Given the description of an element on the screen output the (x, y) to click on. 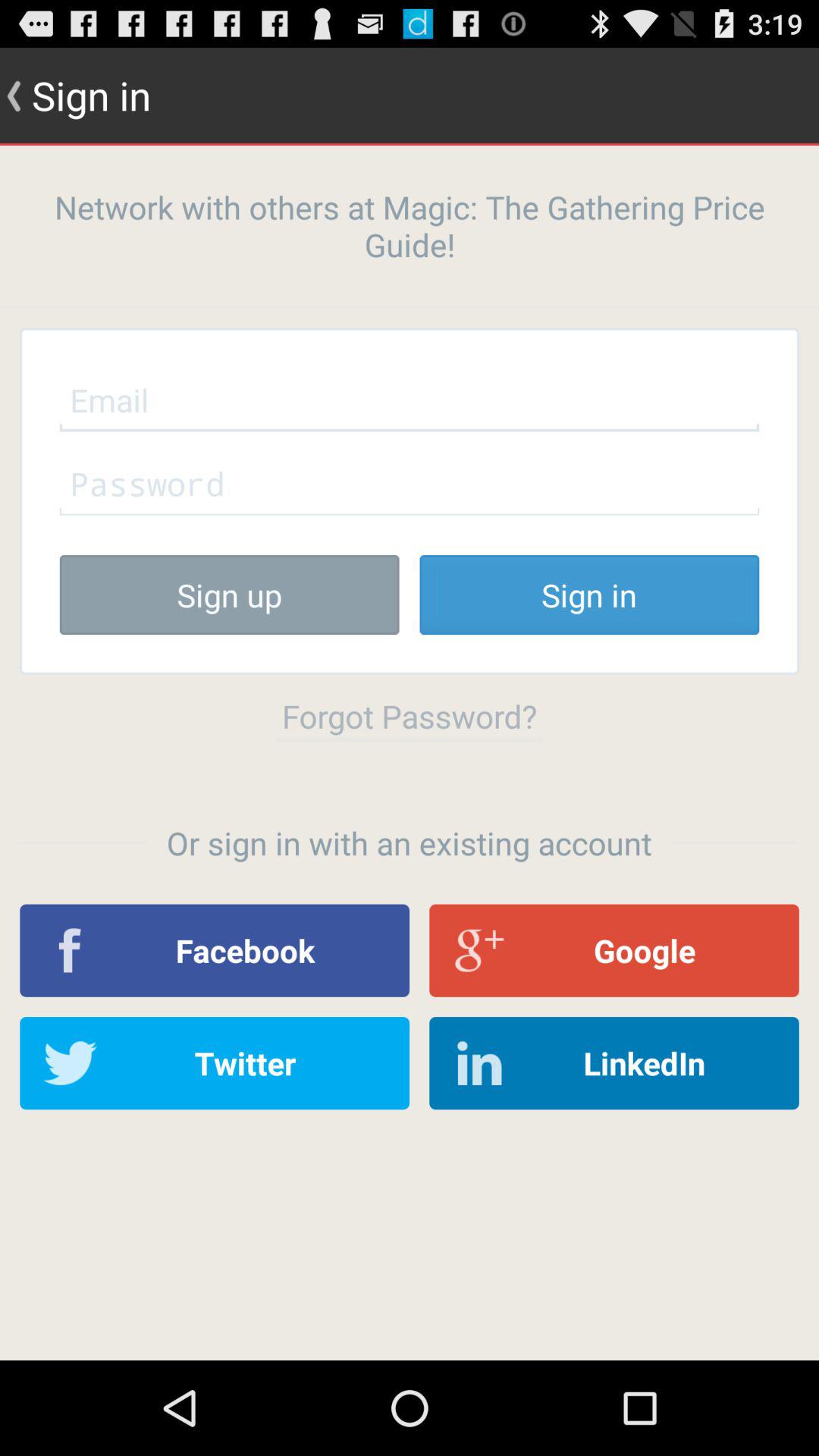
turn on app to the right of the twitter icon (614, 1062)
